Given the description of an element on the screen output the (x, y) to click on. 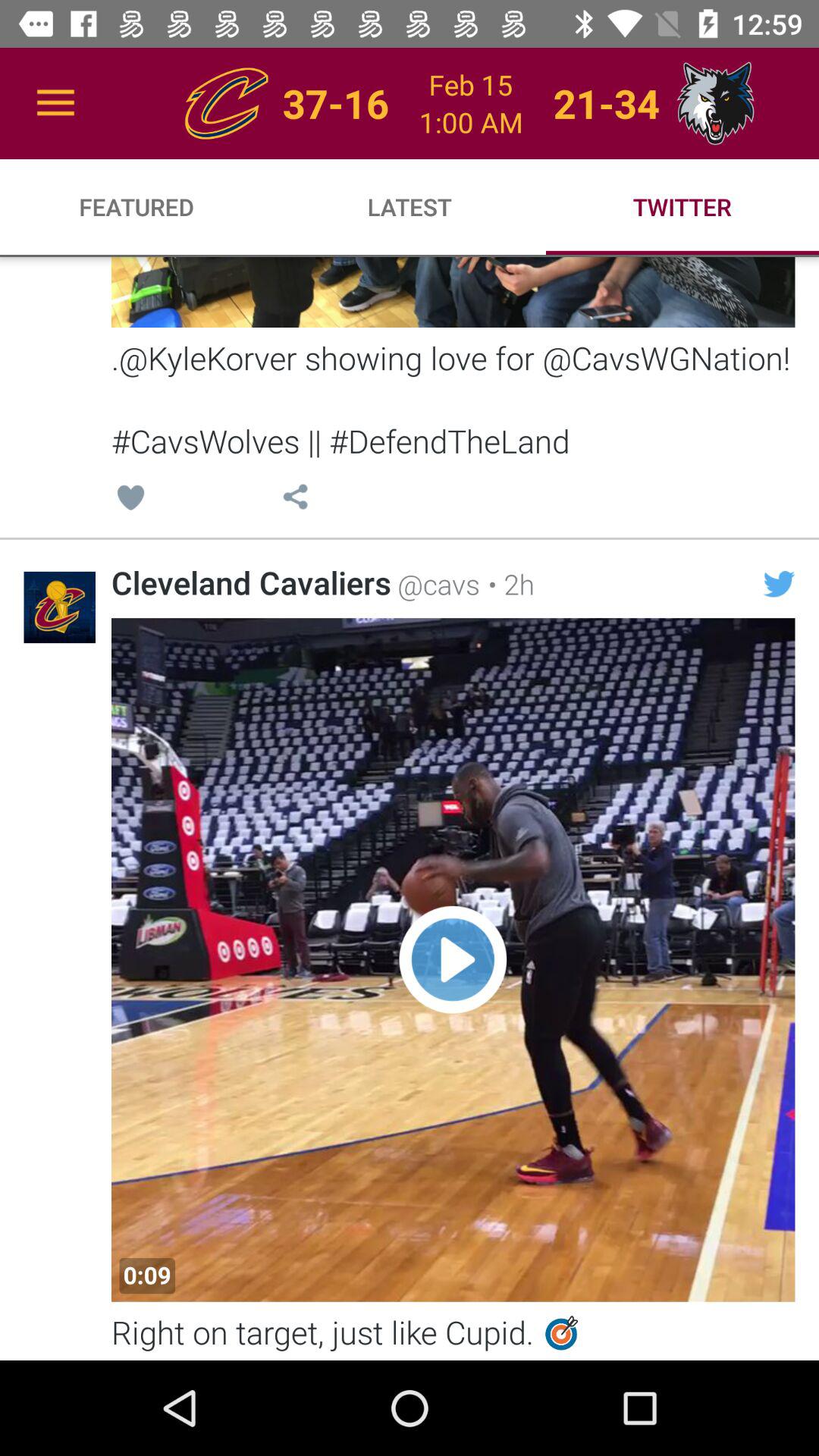
select the item above the featured (55, 103)
